Given the description of an element on the screen output the (x, y) to click on. 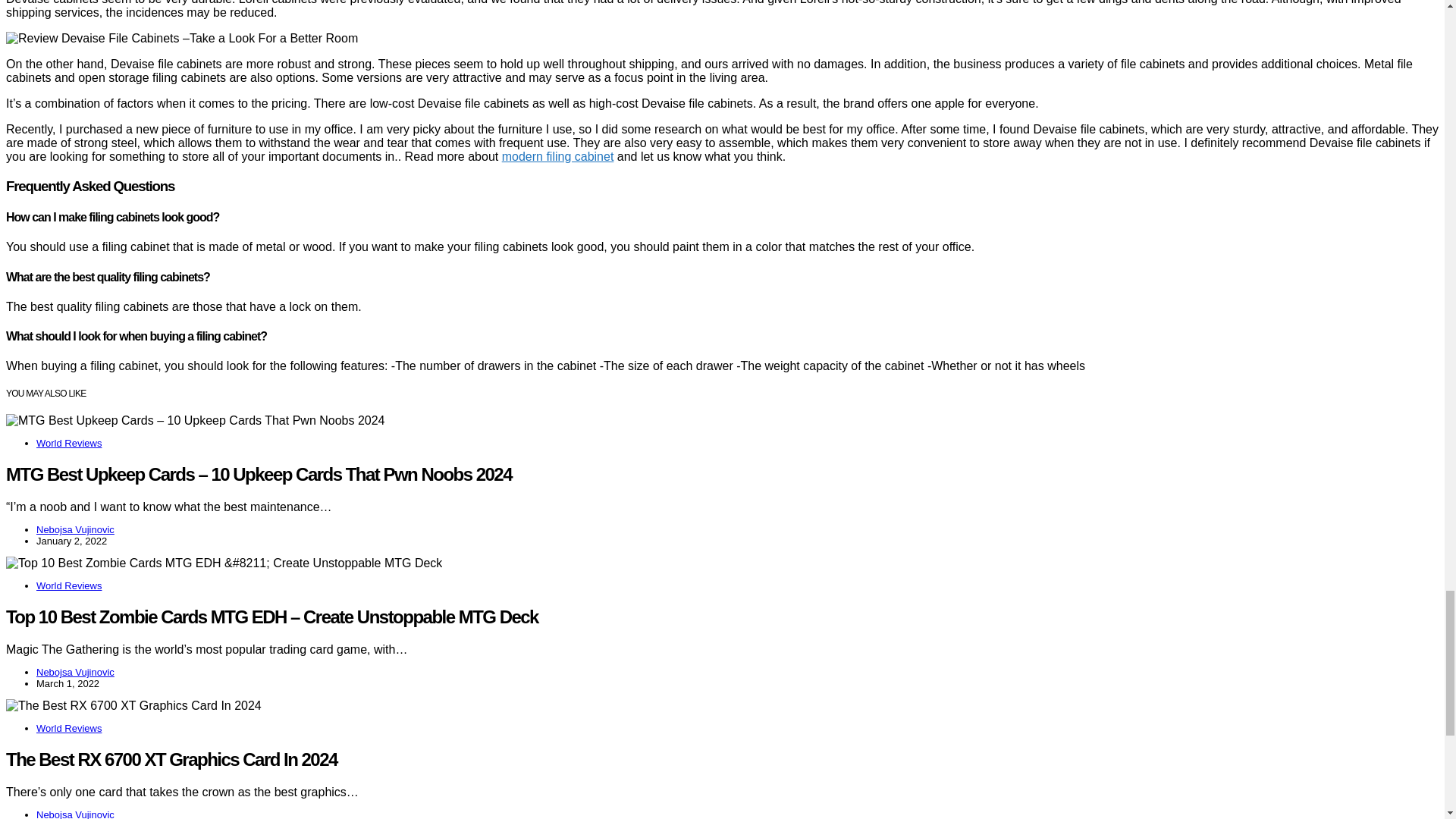
World Reviews (68, 585)
World Reviews (68, 727)
Nebojsa Vujinovic (75, 529)
World Reviews (68, 442)
View all posts by Nebojsa Vujinovic (75, 529)
Nebojsa Vujinovic (75, 672)
modern filing cabinet (558, 155)
Nebojsa Vujinovic (75, 814)
View all posts by Nebojsa Vujinovic (75, 672)
